Given the description of an element on the screen output the (x, y) to click on. 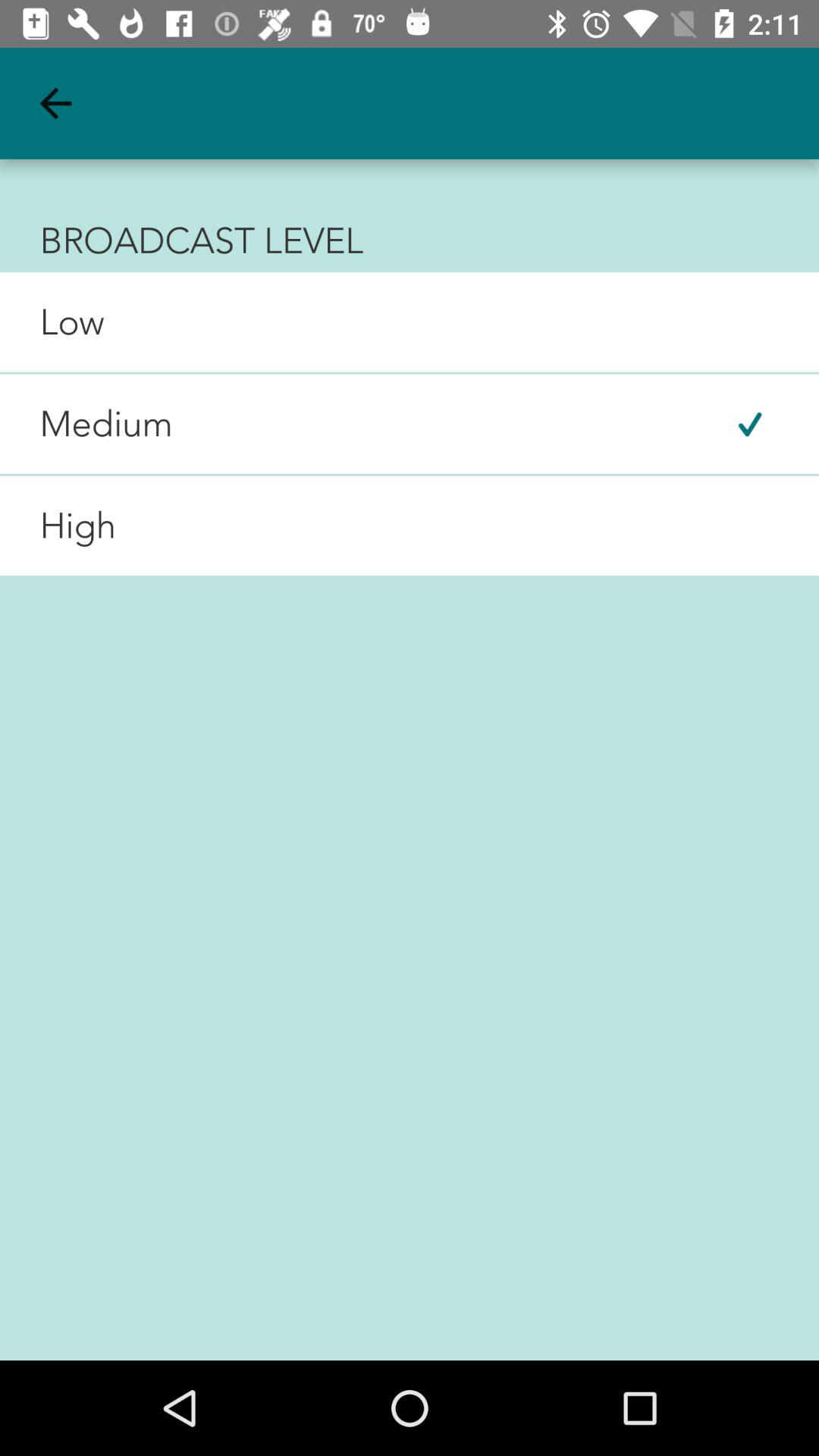
jump to the medium (86, 423)
